Given the description of an element on the screen output the (x, y) to click on. 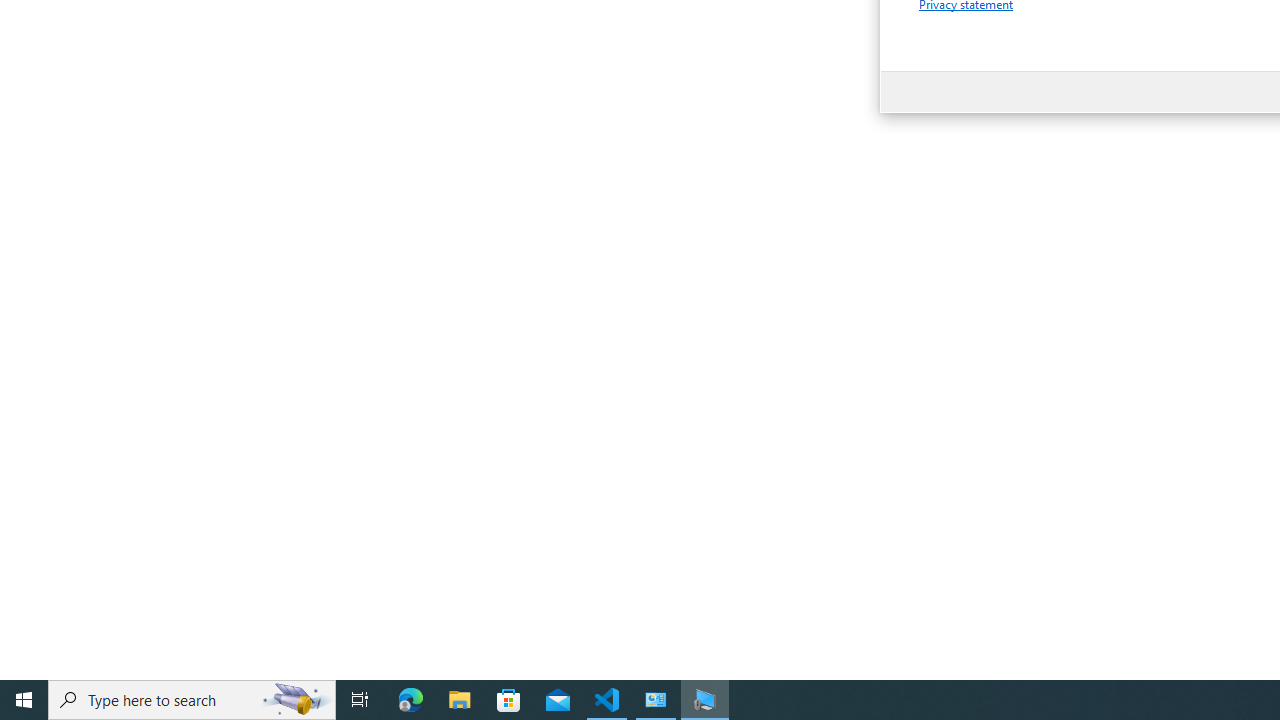
File Explorer (460, 699)
Microsoft Store (509, 699)
Task View (359, 699)
Microsoft Edge (411, 699)
Windows Remote Assistance - 1 running window (704, 699)
Type here to search (191, 699)
Visual Studio Code - 1 running window (607, 699)
Control Panel - 1 running window (656, 699)
Search highlights icon opens search home window (295, 699)
Start (24, 699)
